Given the description of an element on the screen output the (x, y) to click on. 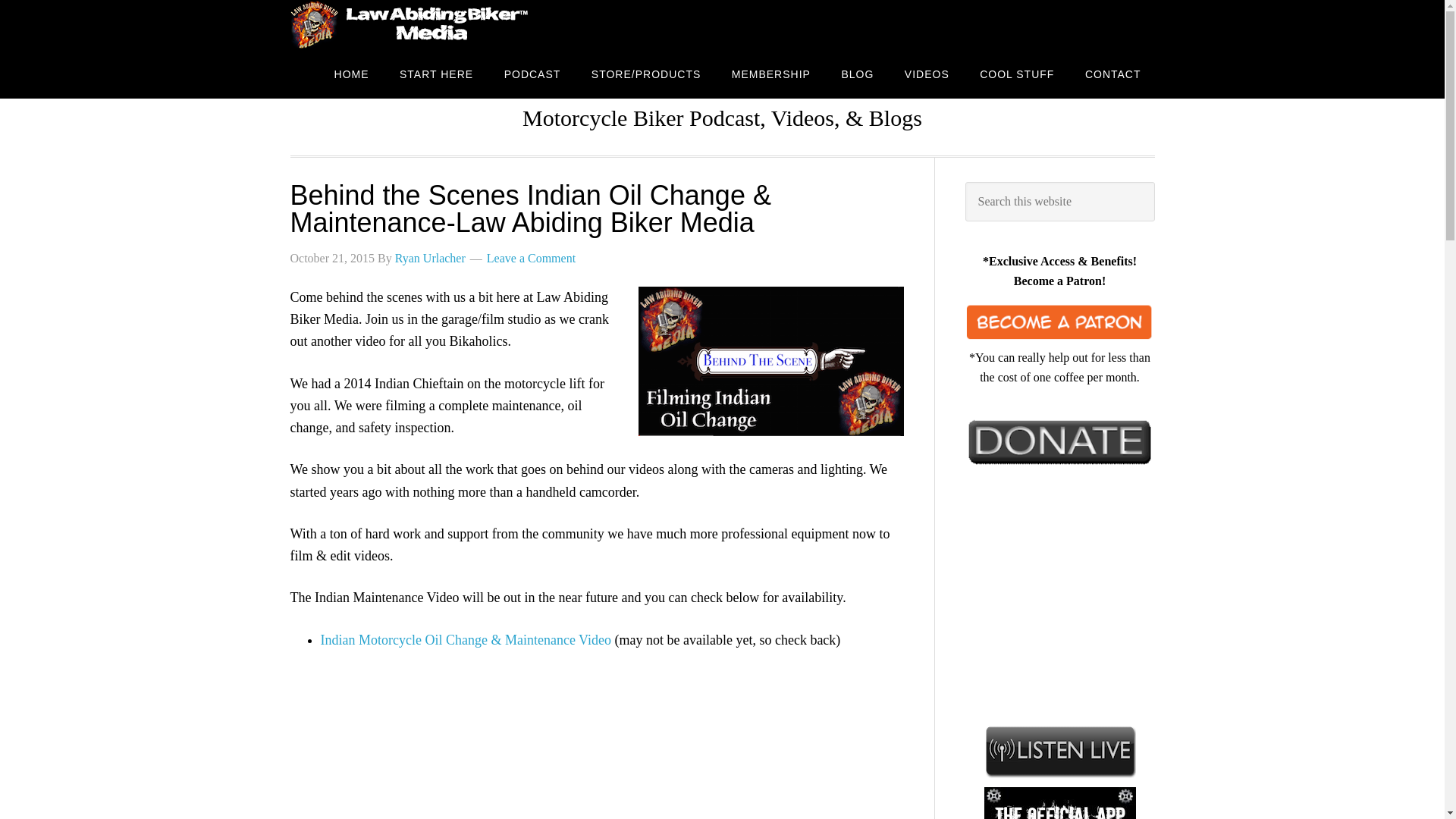
BLOG (856, 73)
MEMBERSHIP (770, 73)
COOL STUFF (1016, 73)
VIDEOS (926, 73)
HOME (351, 73)
START HERE (435, 73)
LAW ABIDING BIKER PODCAST (410, 24)
Advertisement (1077, 592)
PODCAST (532, 73)
